Given the description of an element on the screen output the (x, y) to click on. 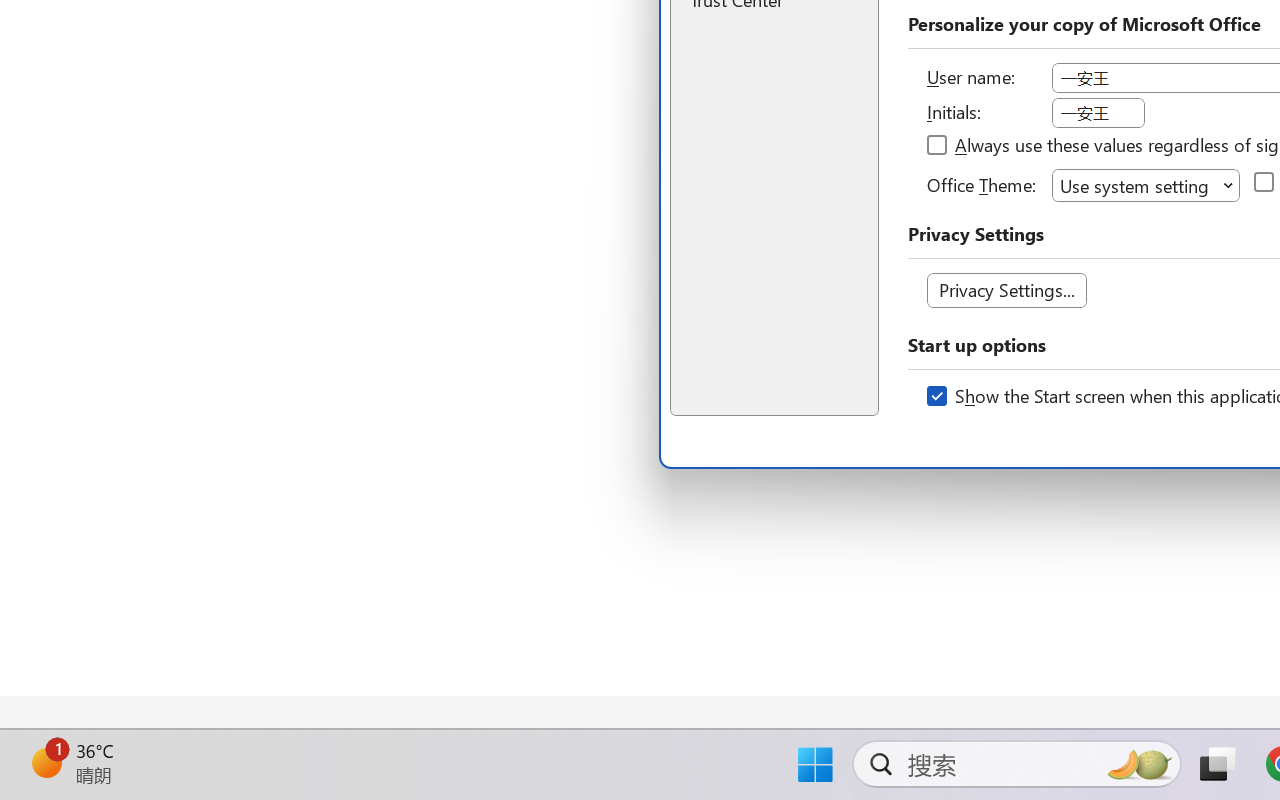
Initials (1098, 113)
Privacy Settings... (1006, 290)
Office Theme (1146, 184)
